Given the description of an element on the screen output the (x, y) to click on. 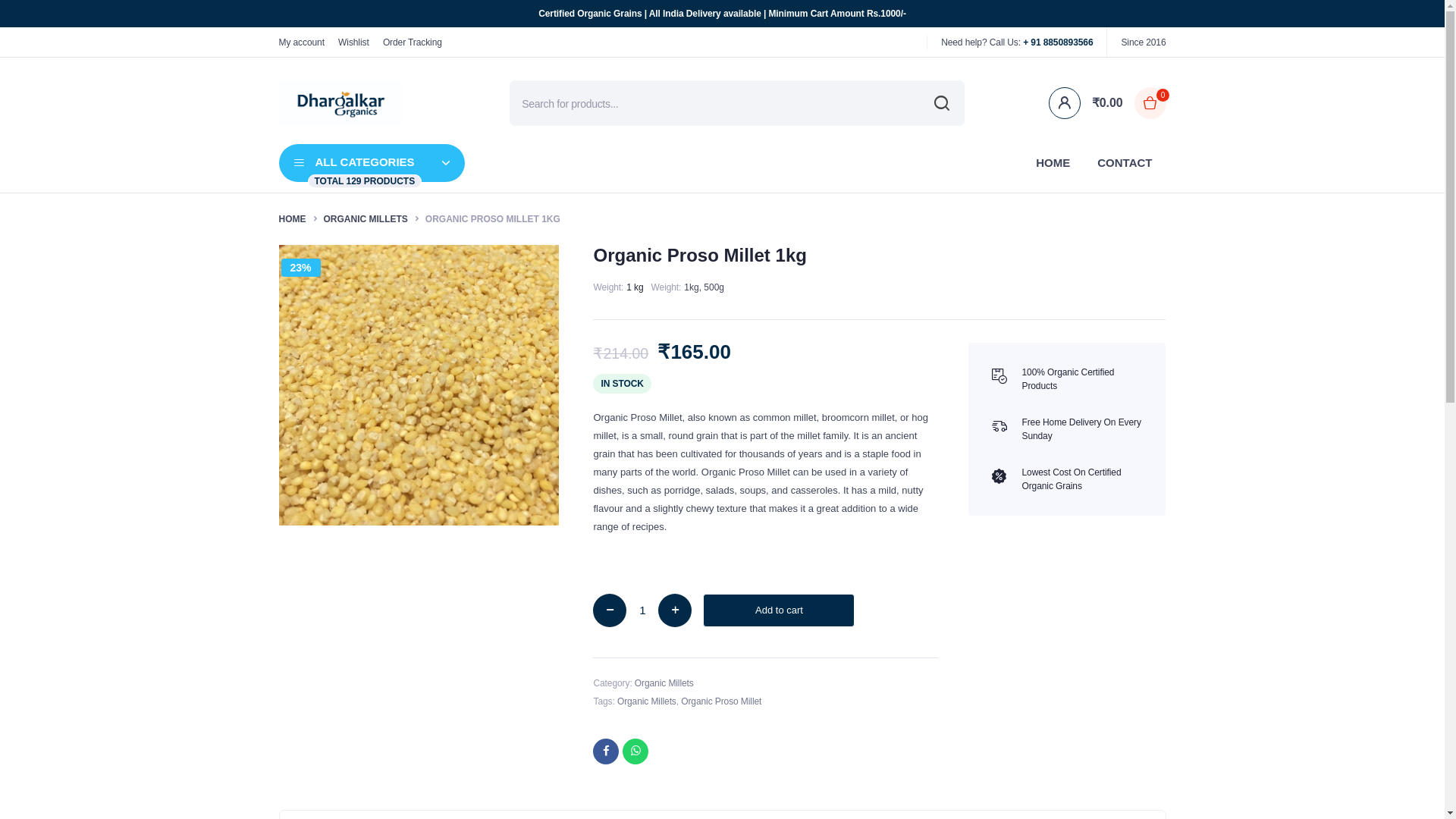
Dhargalkar Organic Grocery (341, 103)
Since 2016 (1143, 41)
Wishlist (353, 41)
My account (301, 41)
Order Tracking (412, 41)
1 (371, 162)
Qty (642, 610)
Organic Proso Millet (642, 610)
